Given the description of an element on the screen output the (x, y) to click on. 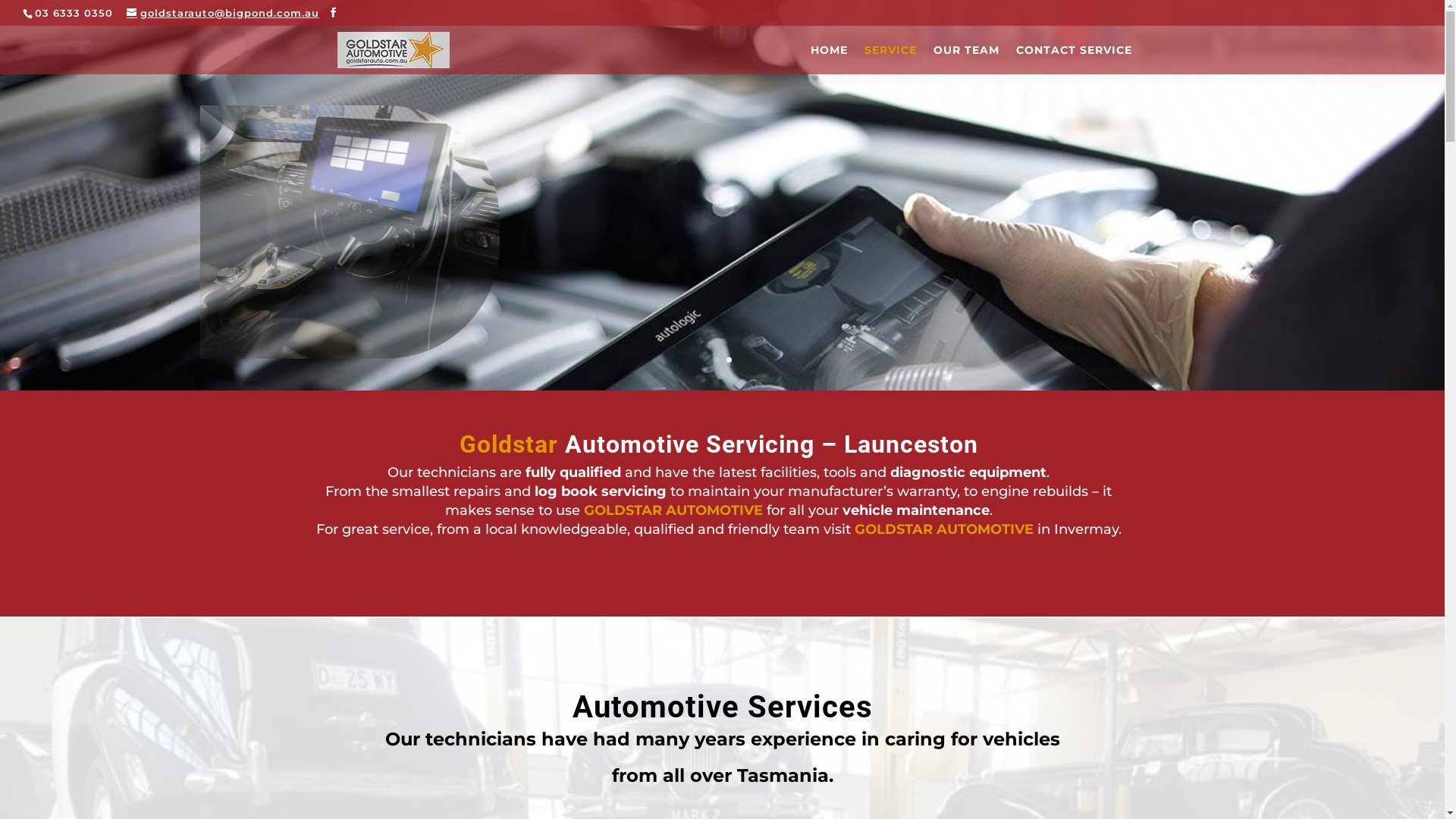
CONTACT SERVICE Element type: text (1074, 58)
SERVICE Element type: text (890, 58)
goldstarauto@bigpond.com.au Element type: text (222, 12)
HOME Element type: text (828, 58)
2 Element type: text (728, 359)
OUR TEAM Element type: text (965, 58)
1 Element type: text (715, 359)
